Given the description of an element on the screen output the (x, y) to click on. 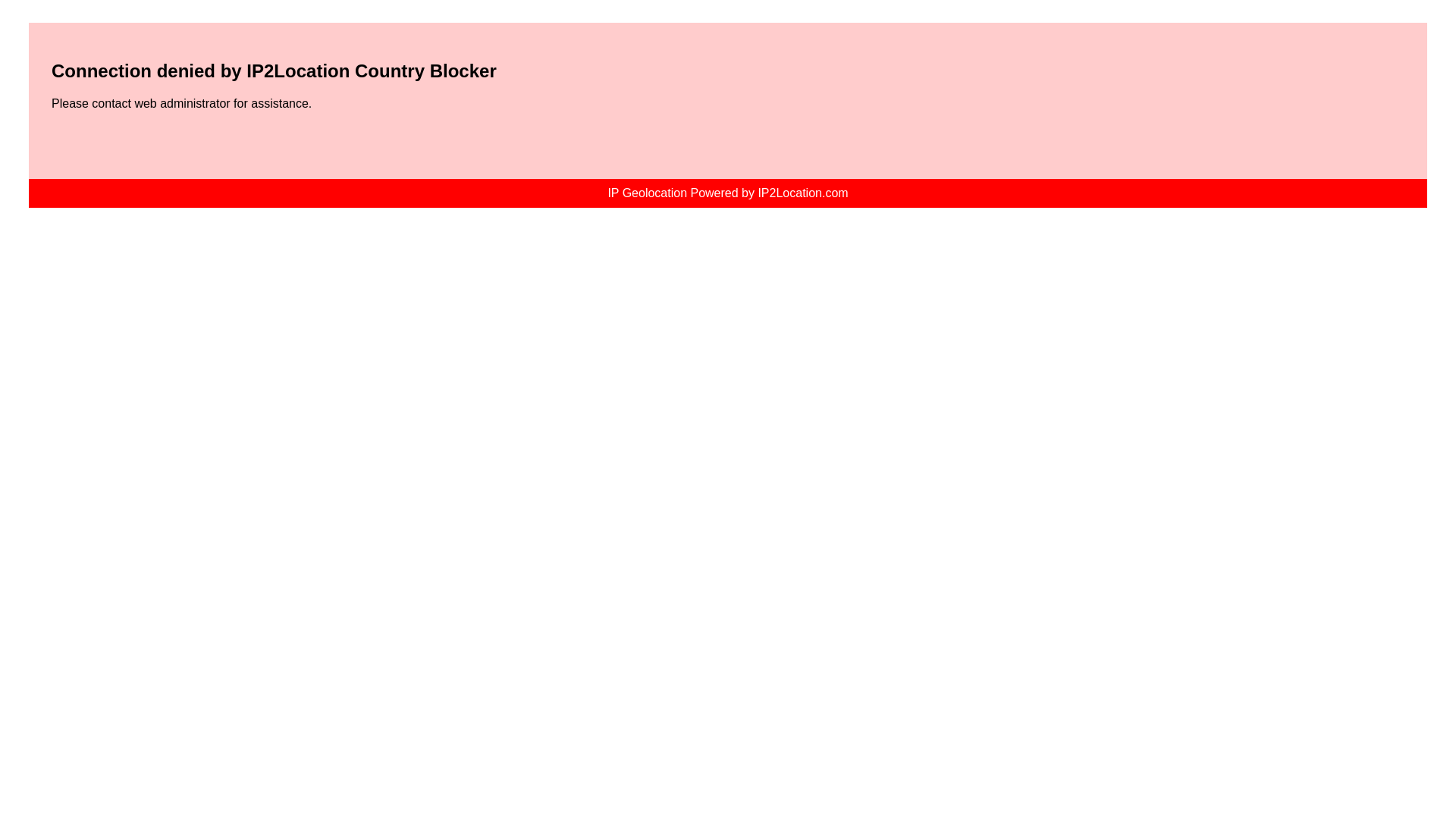
IP Geolocation Powered by IP2Location.com (727, 192)
